Given the description of an element on the screen output the (x, y) to click on. 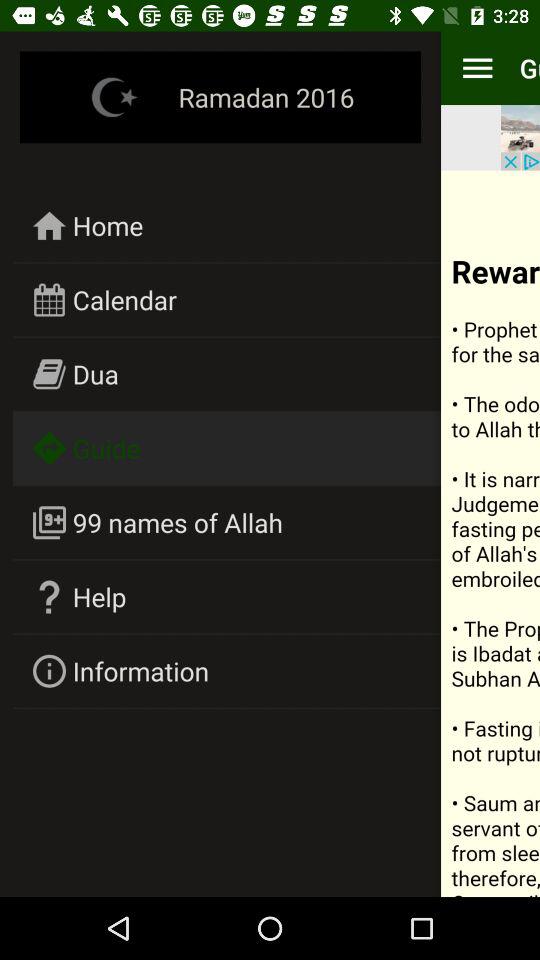
minimize the menu (477, 68)
